Given the description of an element on the screen output the (x, y) to click on. 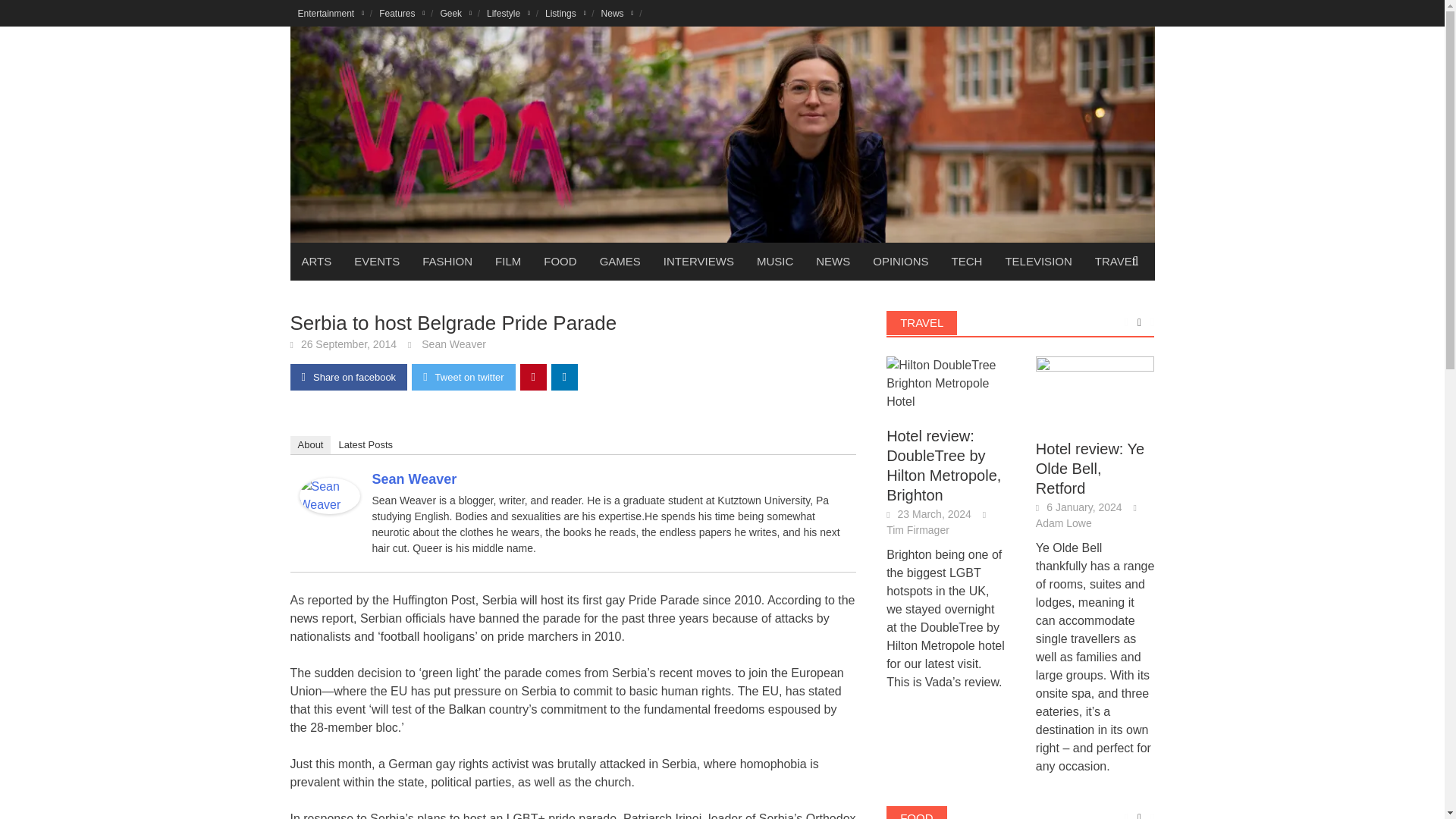
Lifestyle (508, 13)
Hotel review: DoubleTree by Hilton Metropole, Brighton (946, 382)
News (618, 13)
ARTS (315, 261)
Sean Weaver (328, 494)
Hotel review: DoubleTree by Hilton Metropole, Brighton (946, 383)
FASHION (446, 261)
Hotel review: Ye Olde Bell, Retford (1094, 390)
Geek (455, 13)
INTERVIEWS (698, 261)
Features (401, 13)
Listings (565, 13)
GAMES (620, 261)
MUSIC (775, 261)
EVENTS (376, 261)
